Given the description of an element on the screen output the (x, y) to click on. 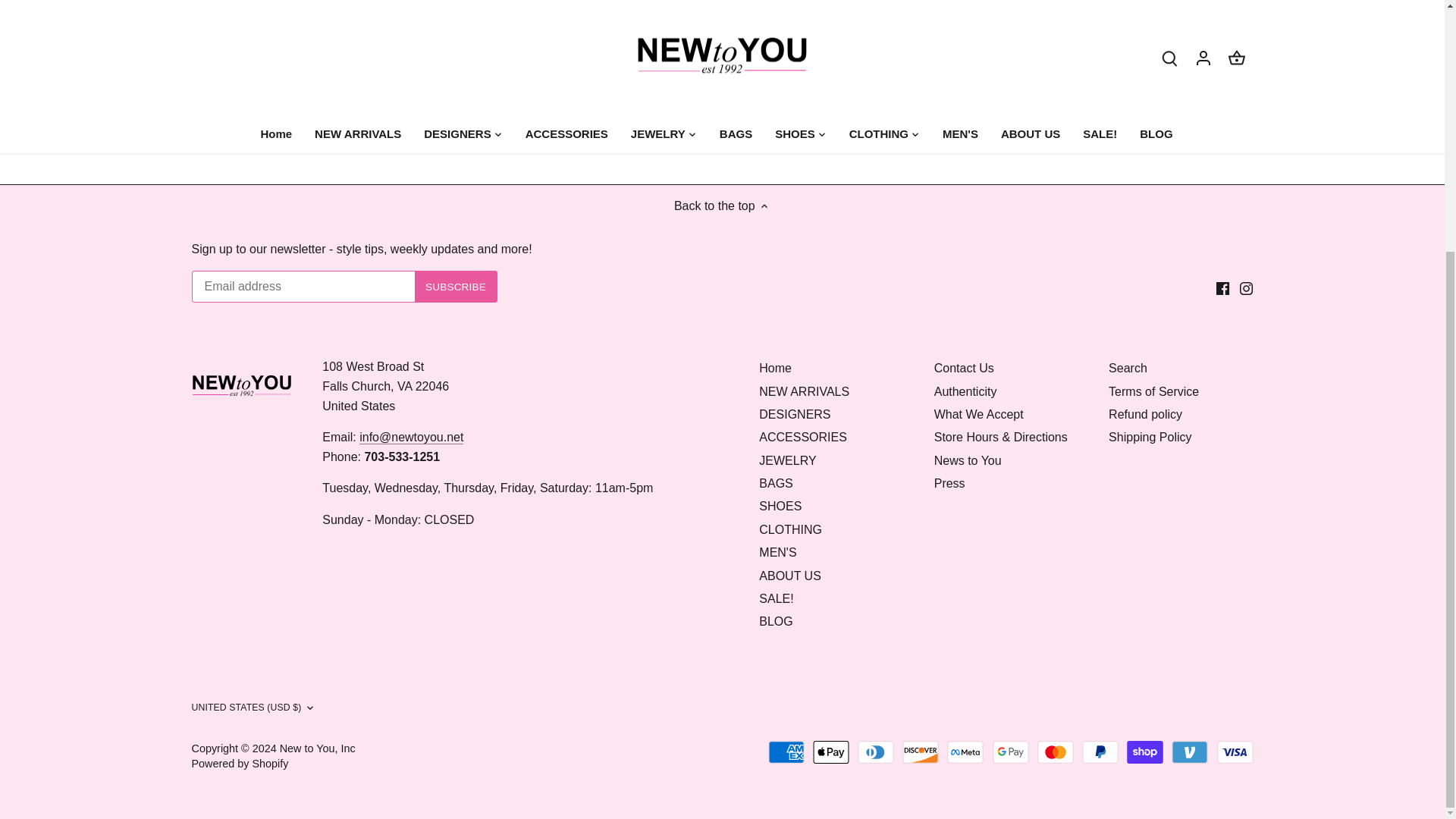
Google Pay (1010, 752)
Discover (920, 752)
Mastercard (1055, 752)
Instagram (1246, 287)
Diners Club (875, 752)
Apple Pay (830, 752)
Facebook (1221, 287)
Meta Pay (965, 752)
American Express (786, 752)
Subscribe (455, 286)
